Given the description of an element on the screen output the (x, y) to click on. 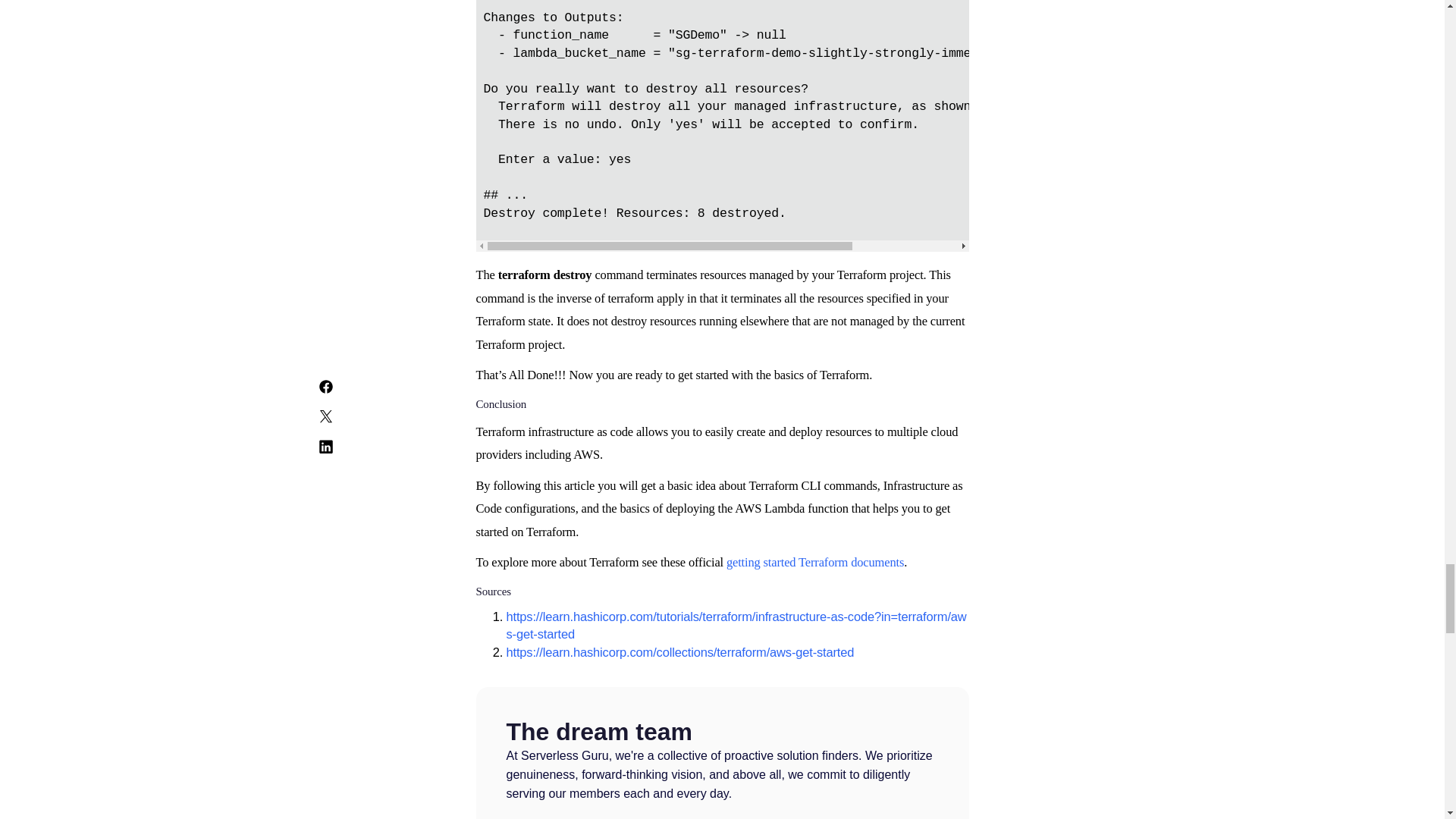
getting started Terraform documents (815, 562)
